Given the description of an element on the screen output the (x, y) to click on. 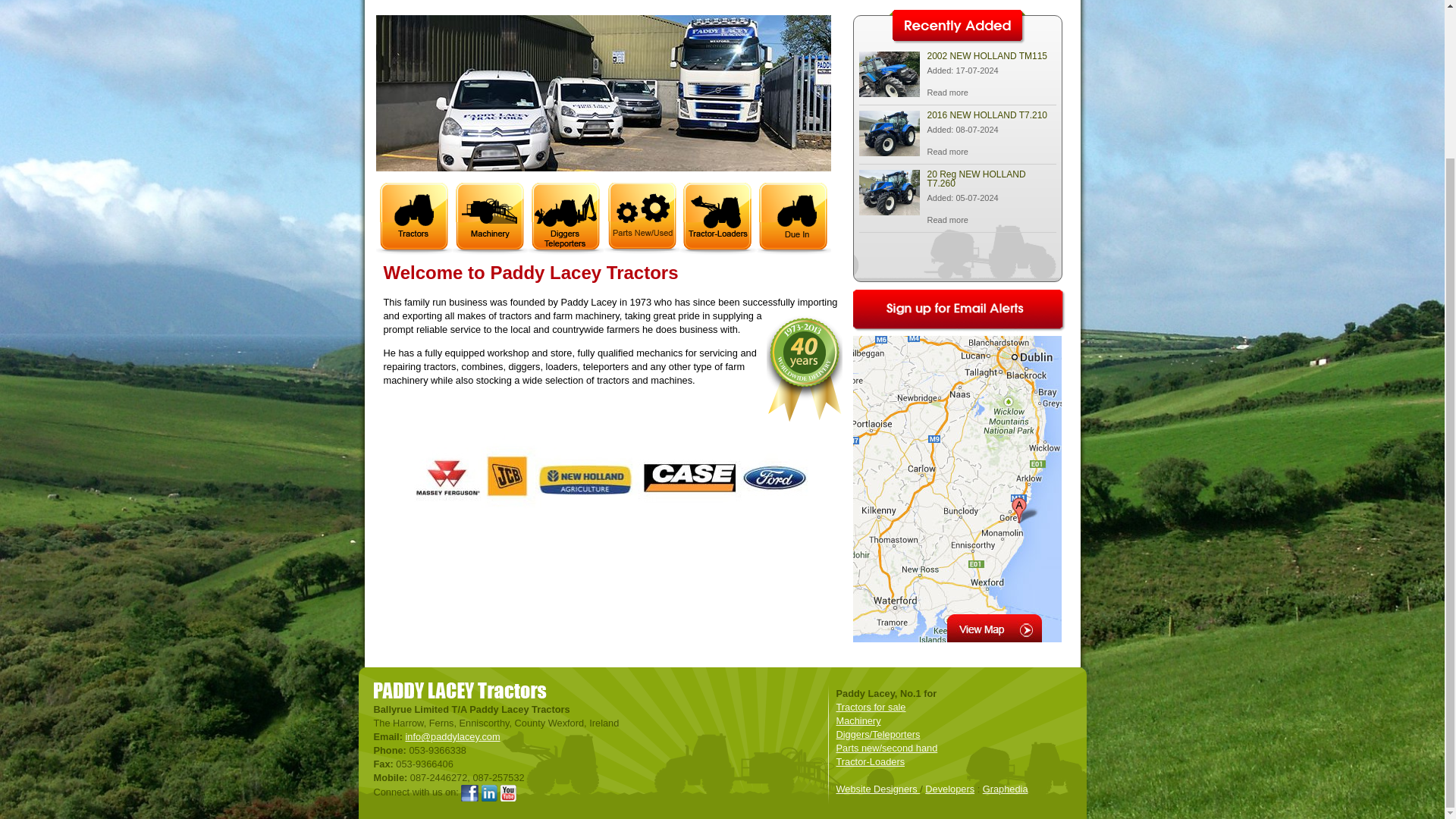
Read more (947, 151)
Parts, new and used (666, 2)
2016 NEW HOLLAND T7.210 (888, 151)
Delivery Worldwide (926, 2)
Diggers, Teleporters (547, 2)
20 Reg NEW HOLLAND T7.260 (888, 210)
Contact Us (1019, 2)
2016 NEW HOLLAND T7.210 (947, 151)
Tractors (392, 2)
Tractor Loaders (775, 2)
2002 NEW HOLLAND TM115 (947, 92)
Machinery (453, 2)
Tractors (392, 2)
Due In (845, 2)
20 Reg NEW HOLLAND T7.260 (947, 219)
